Given the description of an element on the screen output the (x, y) to click on. 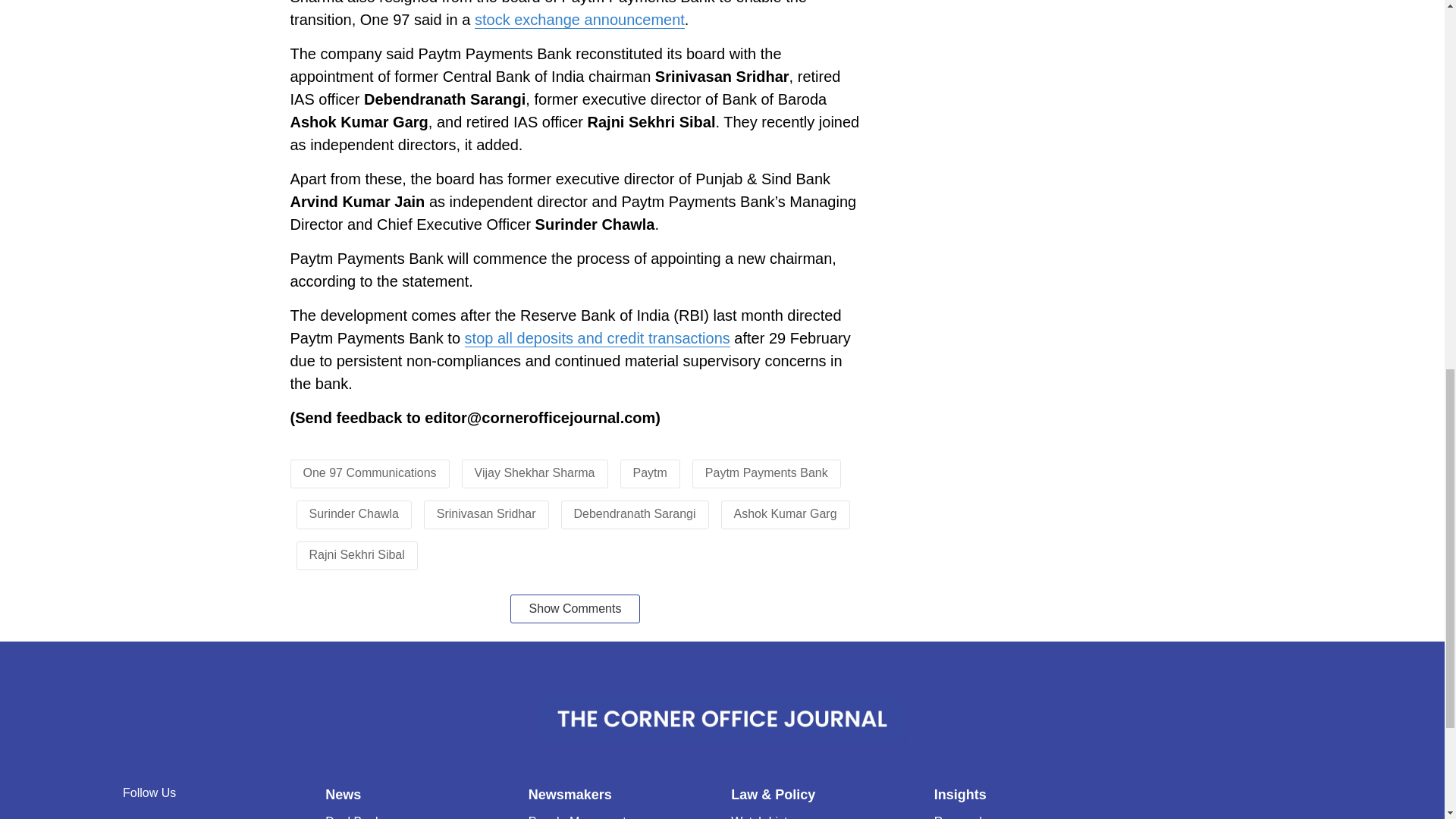
People Movement (577, 816)
Debendranath Sarangi (634, 513)
Srinivasan Sridhar (485, 513)
One 97 Communications (369, 472)
Rajni Sekhri Sibal (356, 554)
Show Comments (575, 608)
Vijay Shekhar Sharma (534, 472)
Paytm Payments Bank (766, 472)
Ashok Kumar Garg (785, 513)
stop all deposits and credit transactions (597, 338)
